Given the description of an element on the screen output the (x, y) to click on. 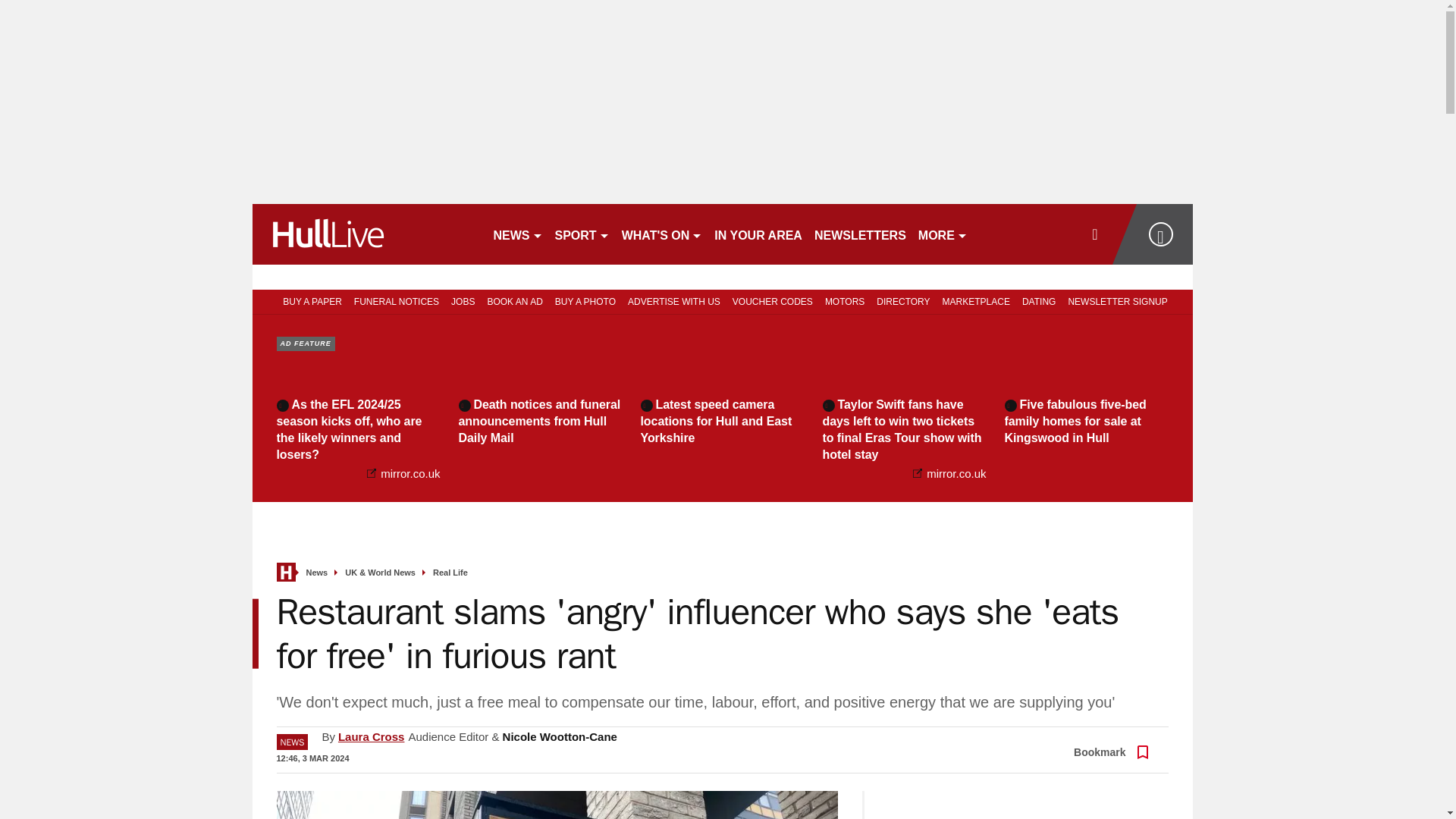
NEWSLETTERS (860, 233)
WHAT'S ON (662, 233)
SPORT (581, 233)
hulldailymail (365, 233)
MORE (943, 233)
NEWS (517, 233)
IN YOUR AREA (757, 233)
